Given the description of an element on the screen output the (x, y) to click on. 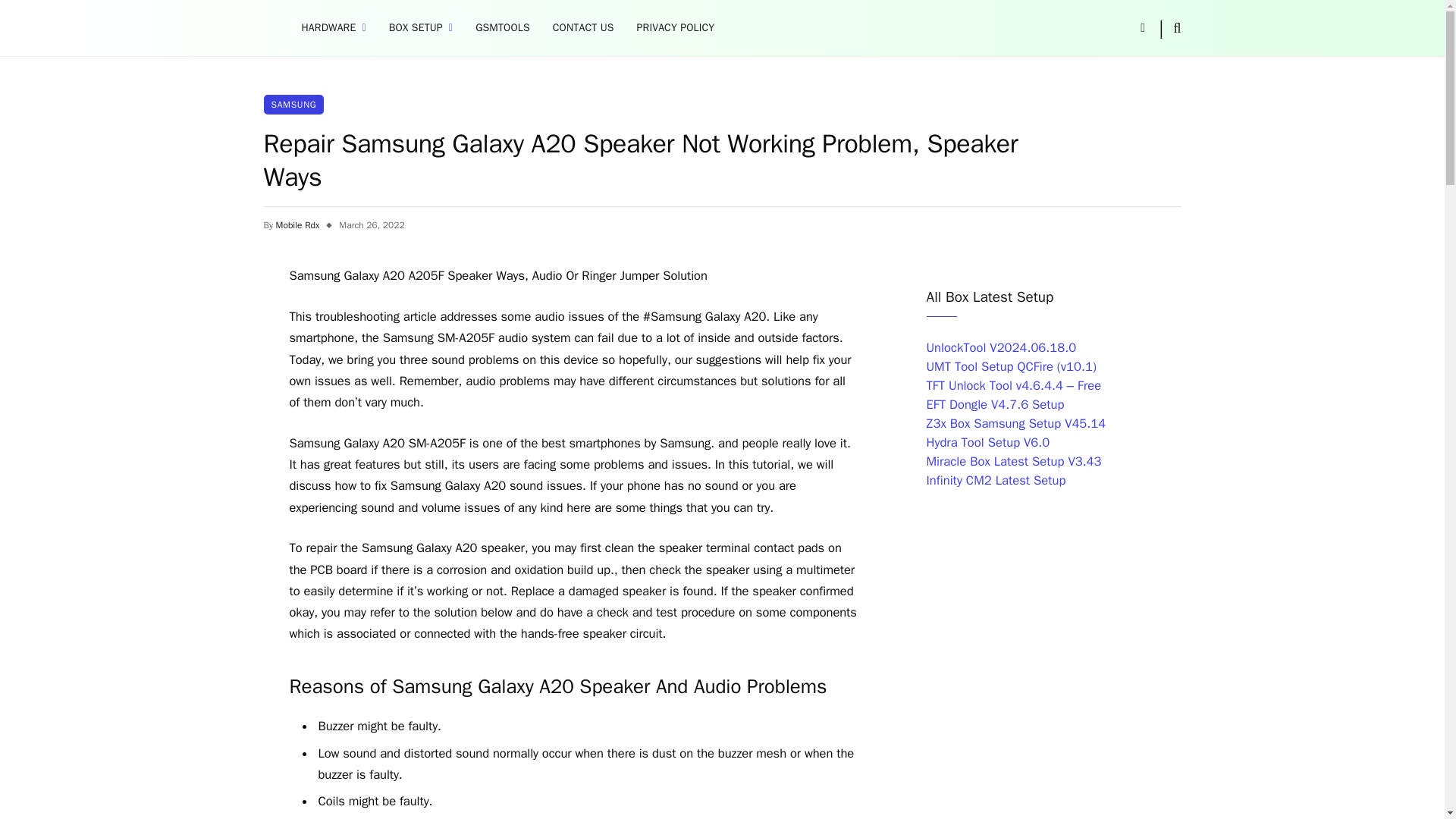
SAMSUNG (293, 104)
CONTACT US (583, 28)
Mobile Rdx (298, 224)
PRIVACY POLICY (676, 28)
Switch to Dark Design - easier on eyes. (1142, 28)
BOX SETUP (420, 28)
Posts by Mobile Rdx (298, 224)
HARDWARE (333, 28)
GSMTOOLS (502, 28)
Search (1175, 27)
